Given the description of an element on the screen output the (x, y) to click on. 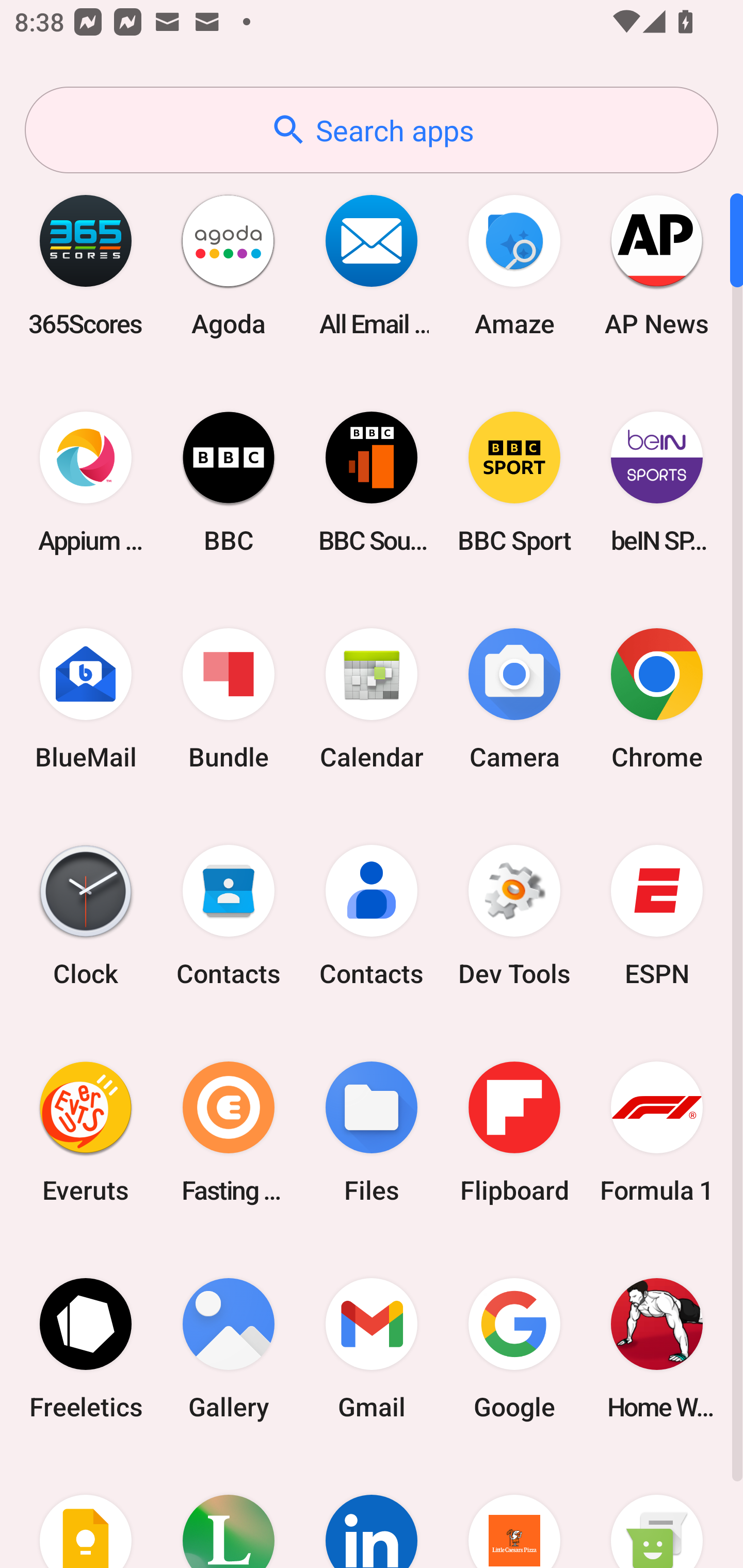
  Search apps (371, 130)
365Scores (85, 264)
Agoda (228, 264)
All Email Connect (371, 264)
Amaze (514, 264)
AP News (656, 264)
Appium Settings (85, 482)
BBC (228, 482)
BBC Sounds (371, 482)
BBC Sport (514, 482)
beIN SPORTS (656, 482)
BlueMail (85, 699)
Bundle (228, 699)
Calendar (371, 699)
Camera (514, 699)
Chrome (656, 699)
Clock (85, 915)
Contacts (228, 915)
Contacts (371, 915)
Dev Tools (514, 915)
ESPN (656, 915)
Everuts (85, 1131)
Fasting Coach (228, 1131)
Files (371, 1131)
Flipboard (514, 1131)
Formula 1 (656, 1131)
Freeletics (85, 1348)
Gallery (228, 1348)
Gmail (371, 1348)
Google (514, 1348)
Home Workout (656, 1348)
Keep Notes (85, 1512)
Lifesum (228, 1512)
LinkedIn (371, 1512)
Little Caesars Pizza (514, 1512)
Messaging (656, 1512)
